Given the description of an element on the screen output the (x, y) to click on. 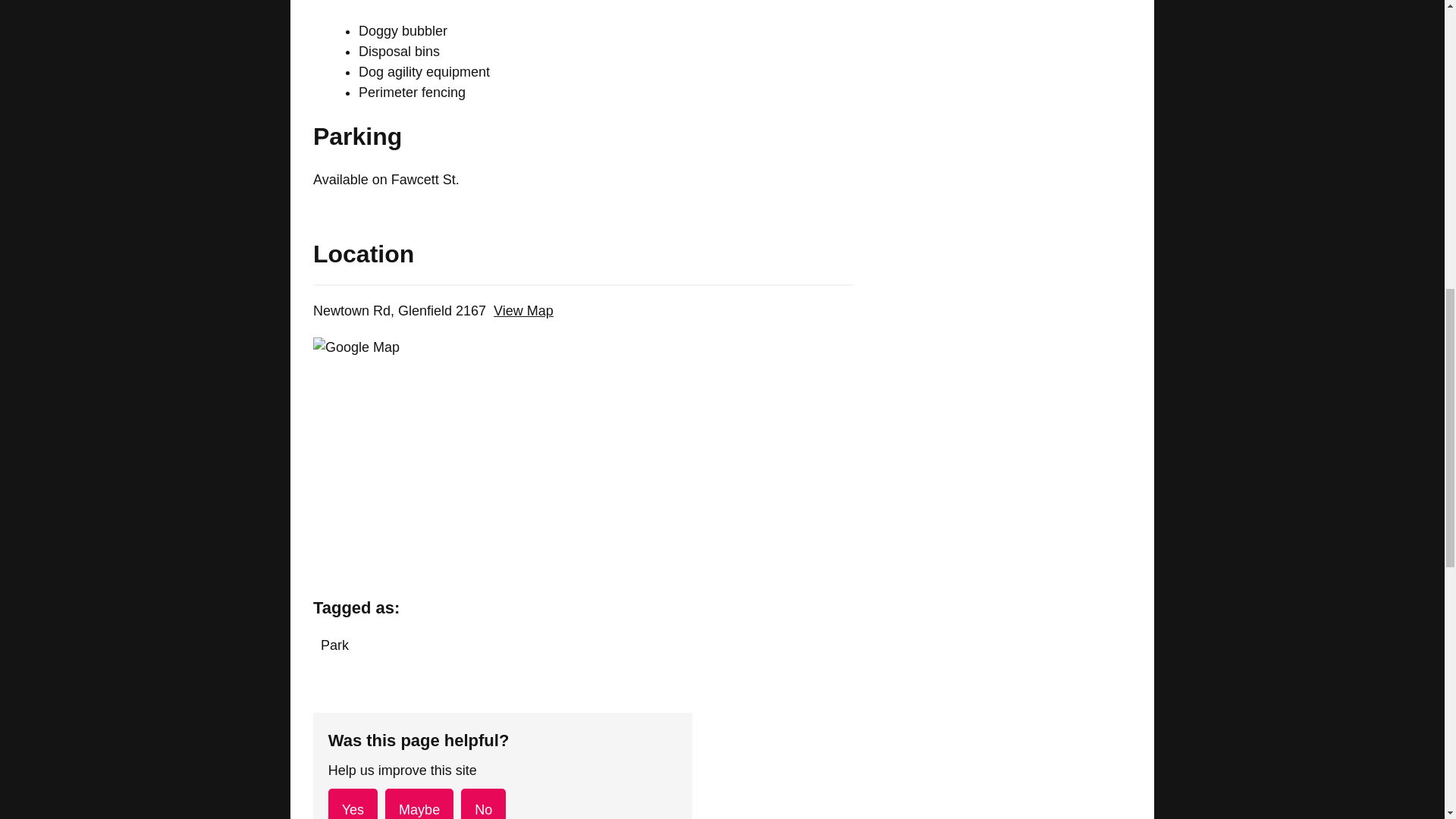
No (483, 803)
Yes (353, 803)
Yes, this page was helpful (353, 803)
No, this page was not helpful (483, 803)
Maybe (418, 803)
